Given the description of an element on the screen output the (x, y) to click on. 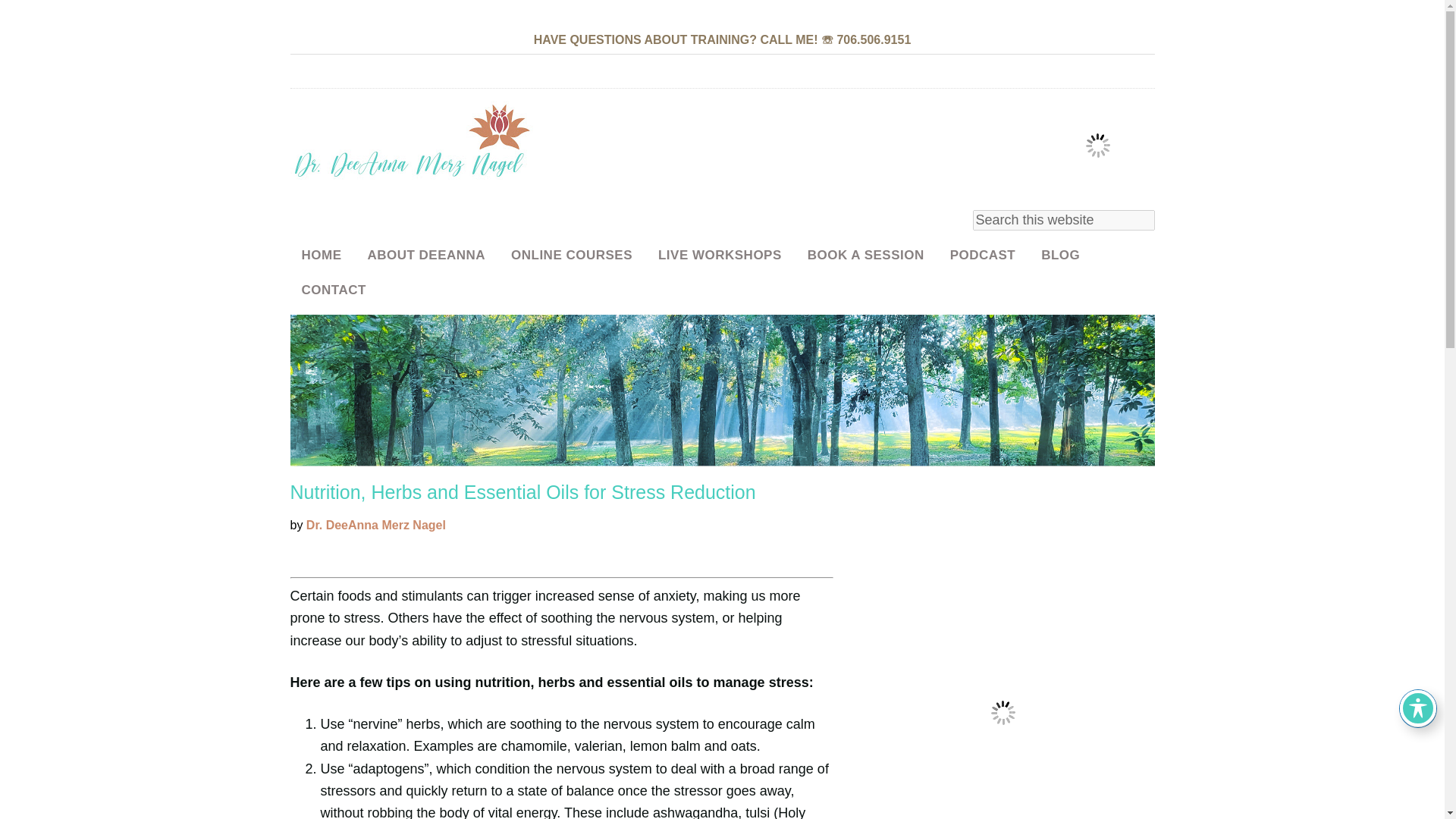
BOOK A SESSION (866, 255)
Dr. DeeAnna Merz Nagel (410, 141)
ONLINE COURSES (571, 255)
ABOUT DEEANNA (425, 255)
PODCAST (983, 255)
BLOG (1059, 255)
HOME (320, 255)
